Given the description of an element on the screen output the (x, y) to click on. 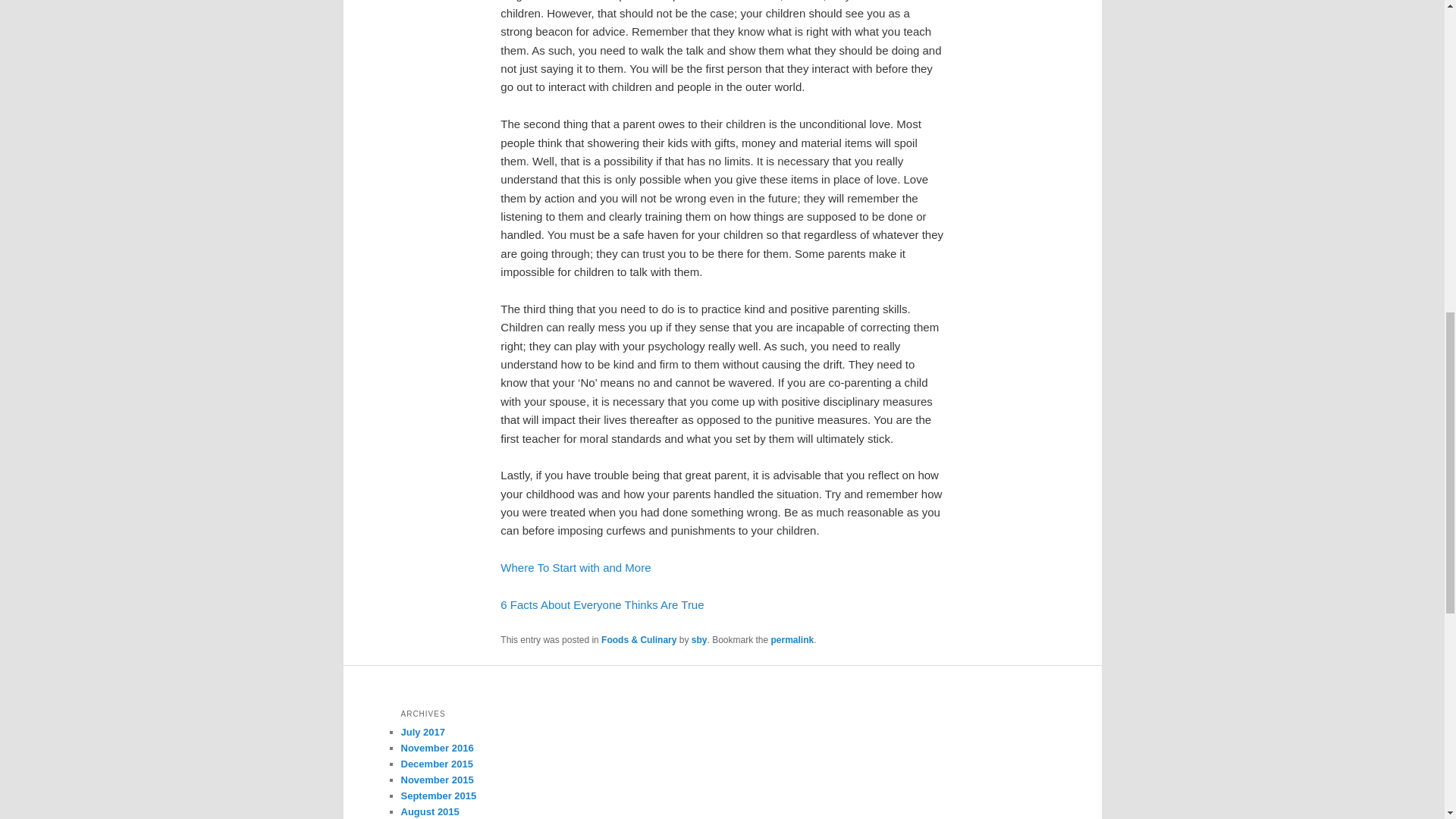
November 2015 (436, 779)
sby (699, 639)
December 2015 (435, 763)
July 2017 (422, 731)
permalink (792, 639)
August 2015 (429, 811)
September 2015 (438, 795)
6 Facts About Everyone Thinks Are True (601, 604)
Permalink to Why No One Talks About  Anymore (792, 639)
November 2016 (436, 747)
Where To Start with and More (575, 567)
